Given the description of an element on the screen output the (x, y) to click on. 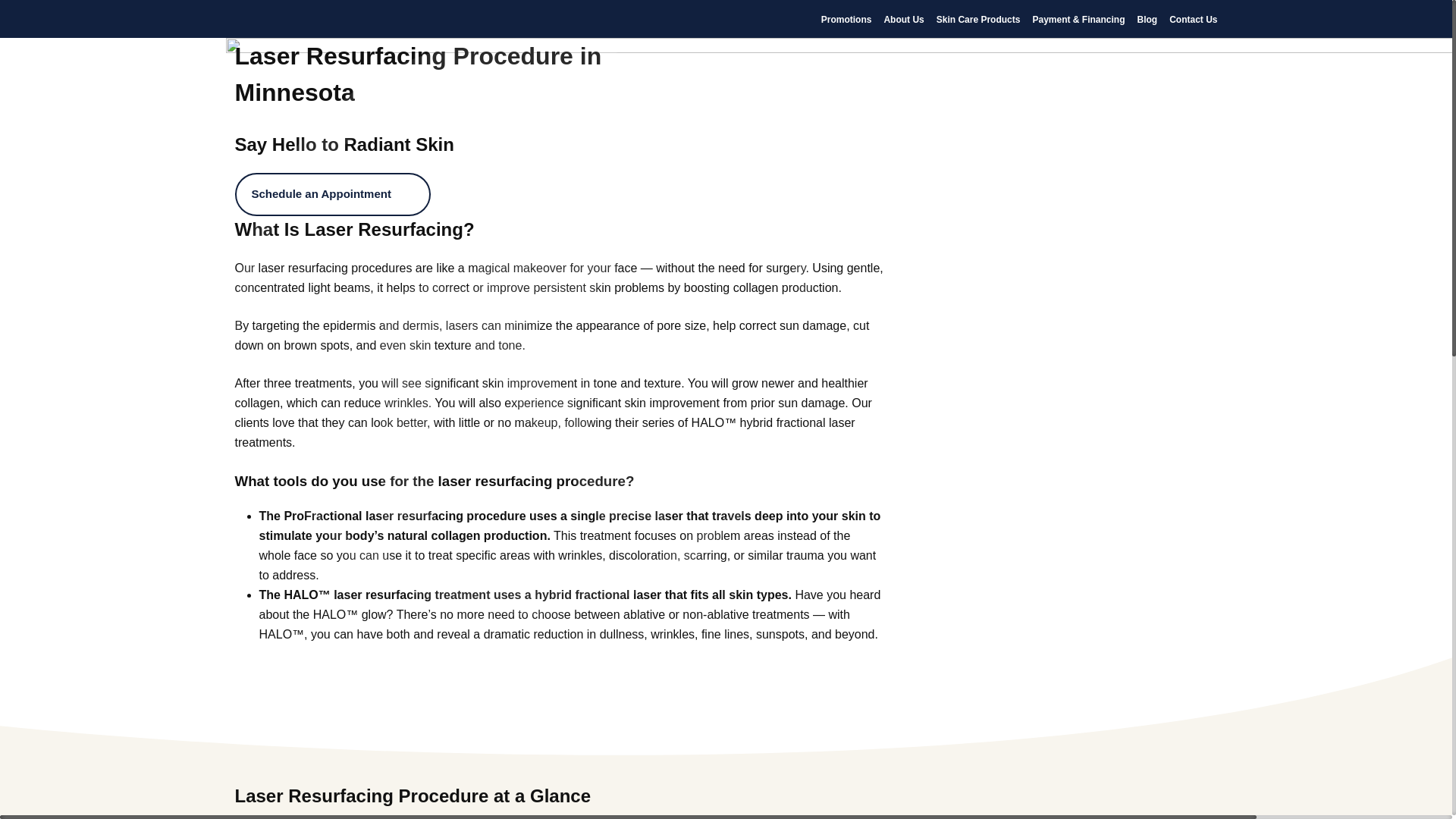
Contact Us (1193, 19)
Blog (1147, 19)
Skin Care Products (978, 19)
About Us (903, 19)
Promotions (846, 19)
